Given the description of an element on the screen output the (x, y) to click on. 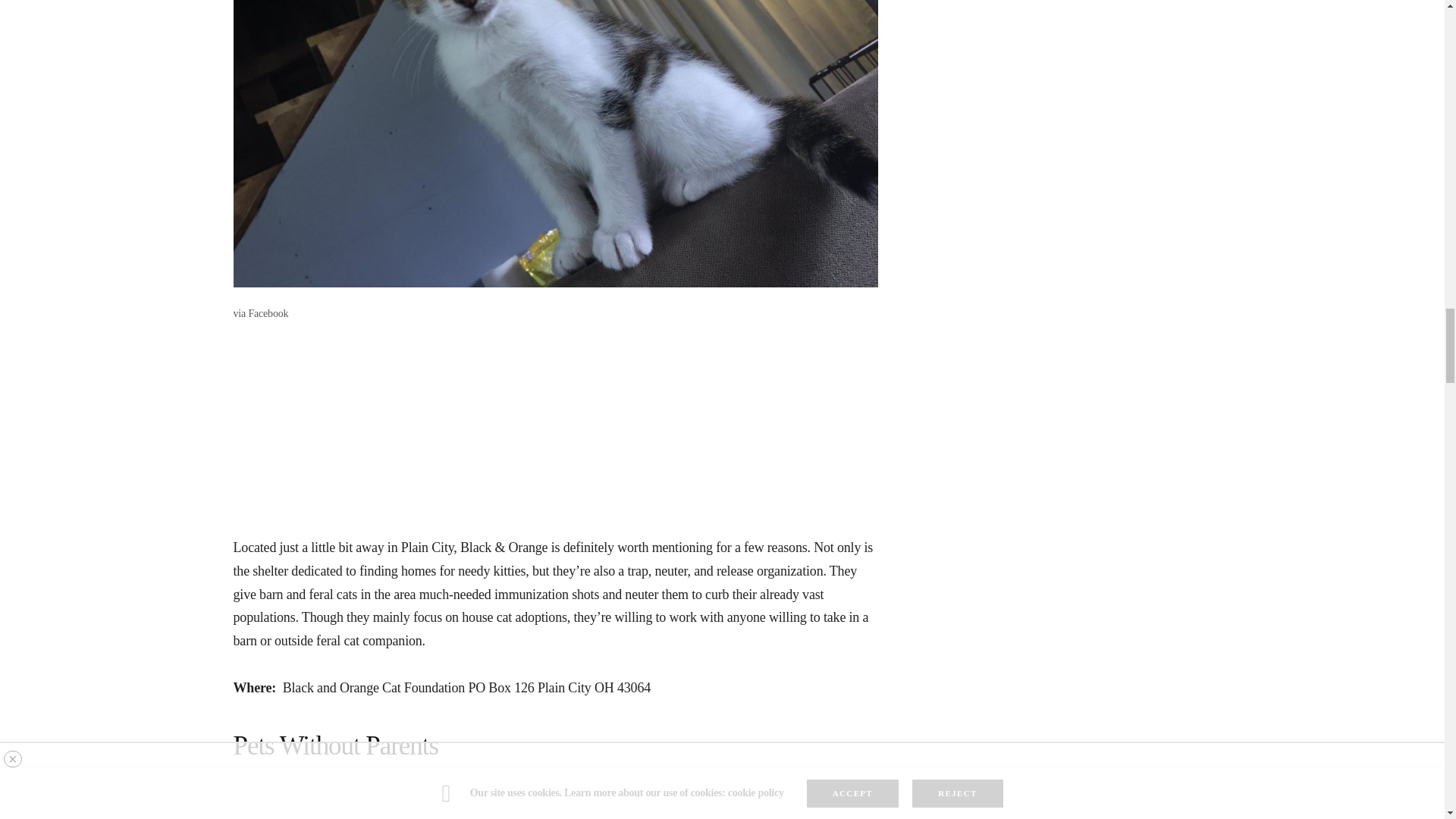
Pets Without Parents (554, 746)
